Given the description of an element on the screen output the (x, y) to click on. 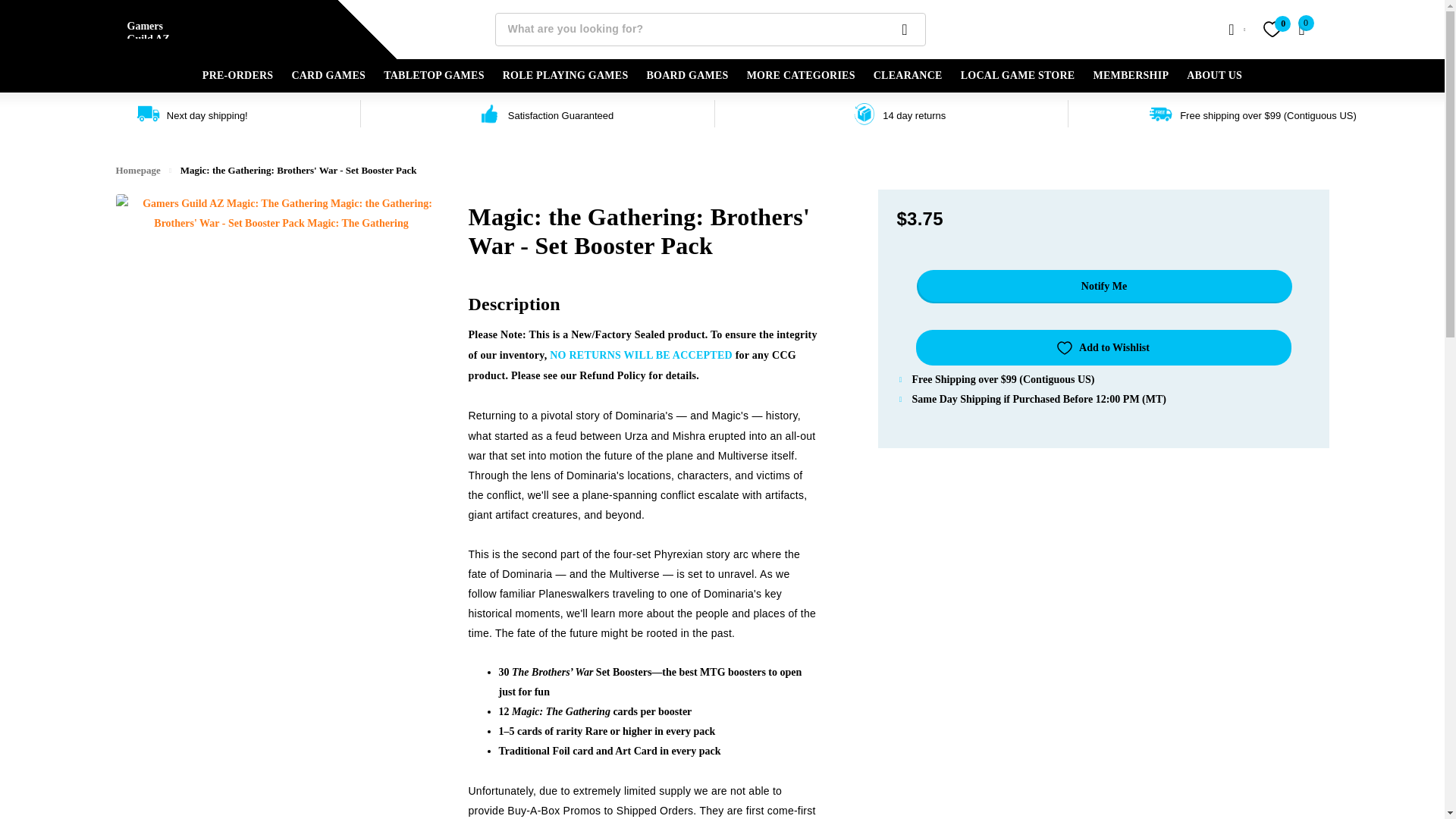
Zoeken (904, 29)
PRE-ORDERS (237, 75)
0 (1271, 29)
0 (1301, 29)
Home (137, 170)
CARD GAMES (328, 75)
